Given the description of an element on the screen output the (x, y) to click on. 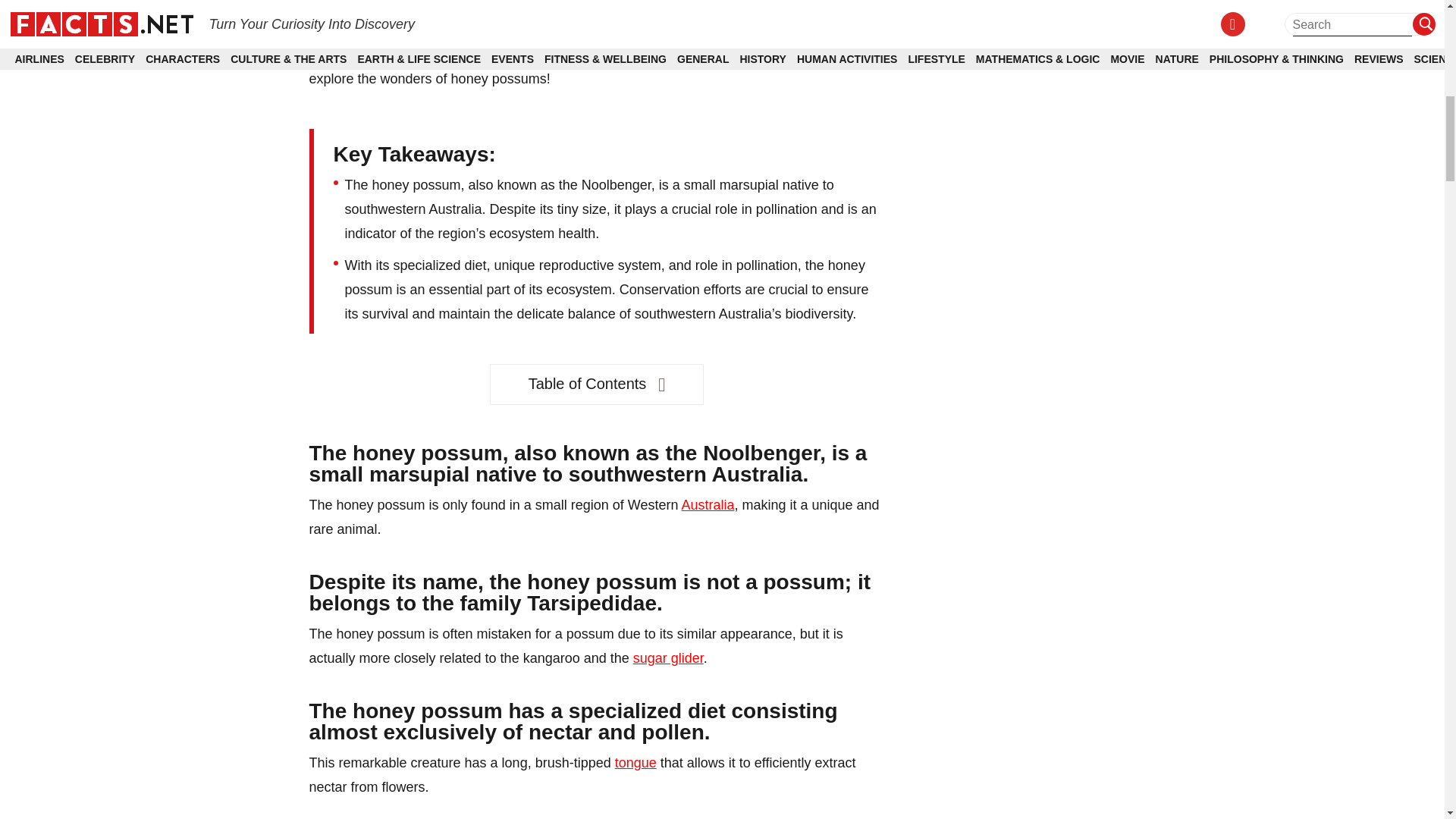
tongue (635, 762)
sugar glider (668, 657)
world (555, 54)
Australia (707, 504)
incredible agility (713, 6)
